Given the description of an element on the screen output the (x, y) to click on. 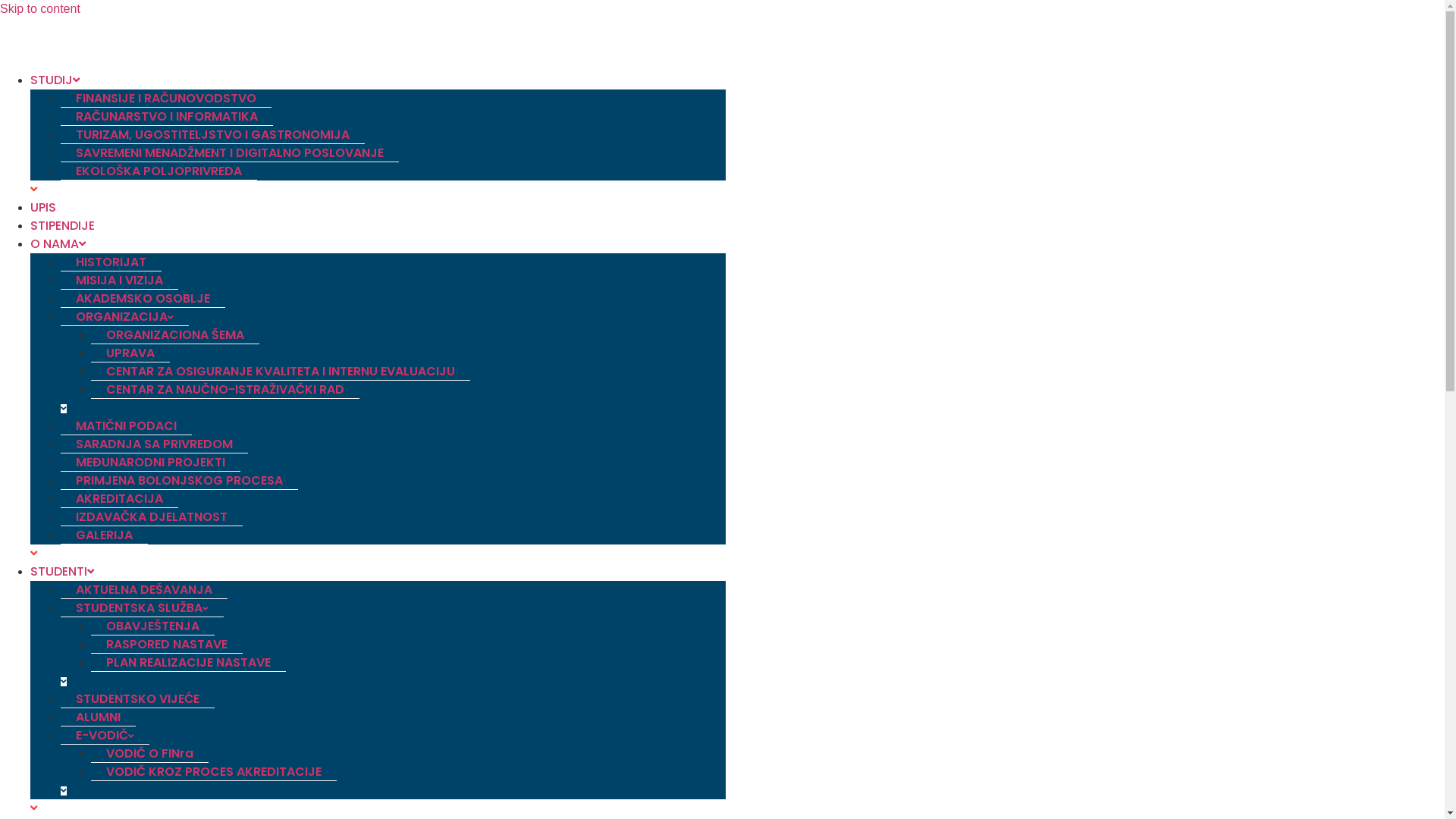
STUDENTI Element type: text (62, 571)
TURIZAM, UGOSTITELJSTVO I GASTRONOMIJA Element type: text (212, 134)
O NAMA Element type: text (57, 243)
CENTAR ZA OSIGURANJE KVALITETA I INTERNU EVALUACIJU Element type: text (280, 371)
ALUMNI Element type: text (97, 717)
MISIJA I VIZIJA Element type: text (119, 280)
AKADEMSKO OSOBLJE Element type: text (142, 298)
PRIMJENA BOLONJSKOG PROCESA Element type: text (179, 480)
STIPENDIJE Element type: text (62, 225)
GALERIJA Element type: text (103, 535)
ORGANIZACIJA Element type: text (124, 316)
RASPORED NASTAVE Element type: text (166, 644)
UPRAVA Element type: text (130, 353)
HISTORIJAT Element type: text (110, 262)
Skip to content Element type: text (40, 8)
UPIS Element type: text (43, 207)
AKREDITACIJA Element type: text (119, 498)
SARADNJA SA PRIVREDOM Element type: text (153, 444)
PLAN REALIZACIJE NASTAVE Element type: text (188, 662)
STUDIJ Element type: text (54, 79)
